Given the description of an element on the screen output the (x, y) to click on. 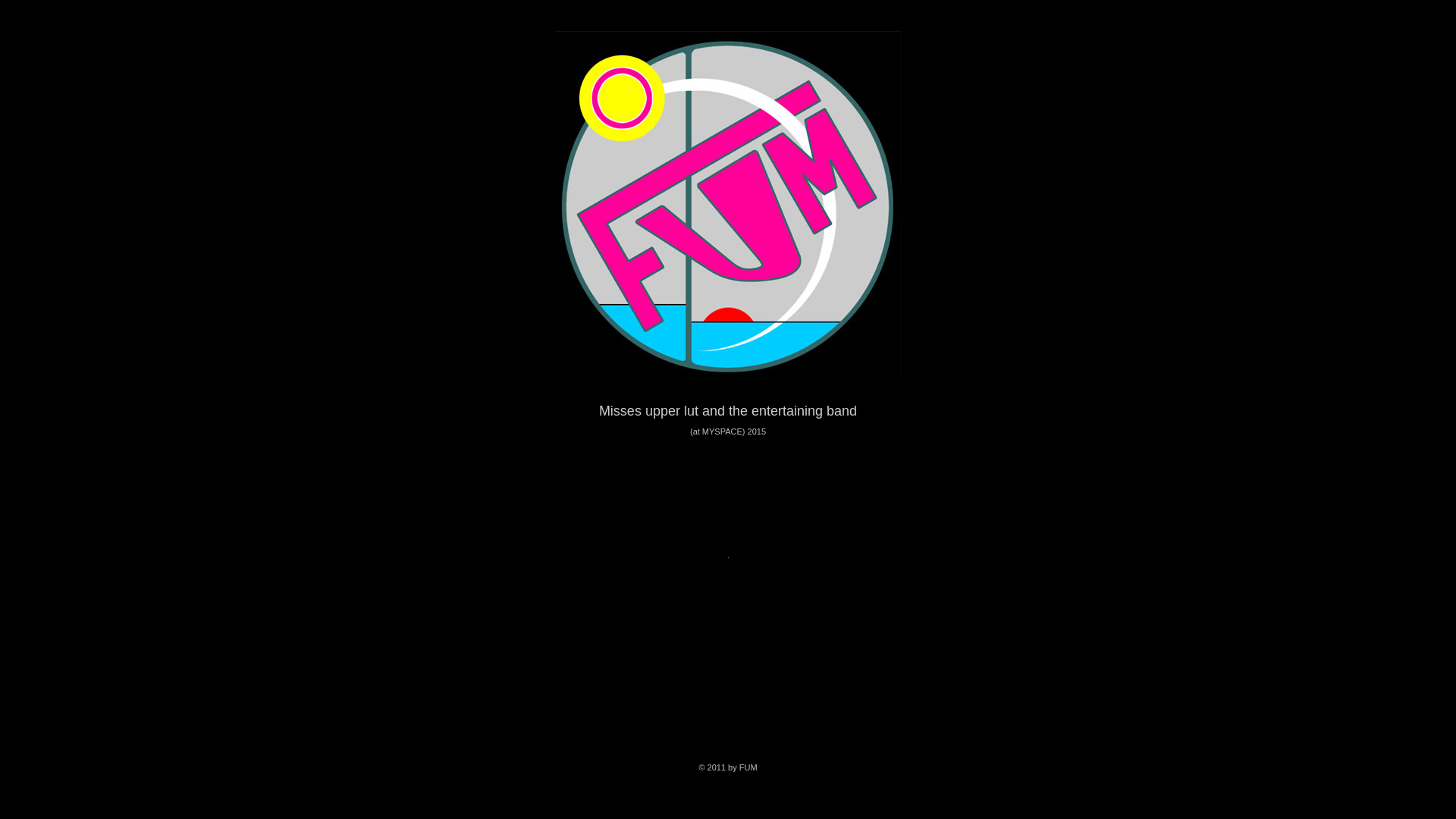
Misses upper lut and the entertaining band Element type: text (727, 409)
